Given the description of an element on the screen output the (x, y) to click on. 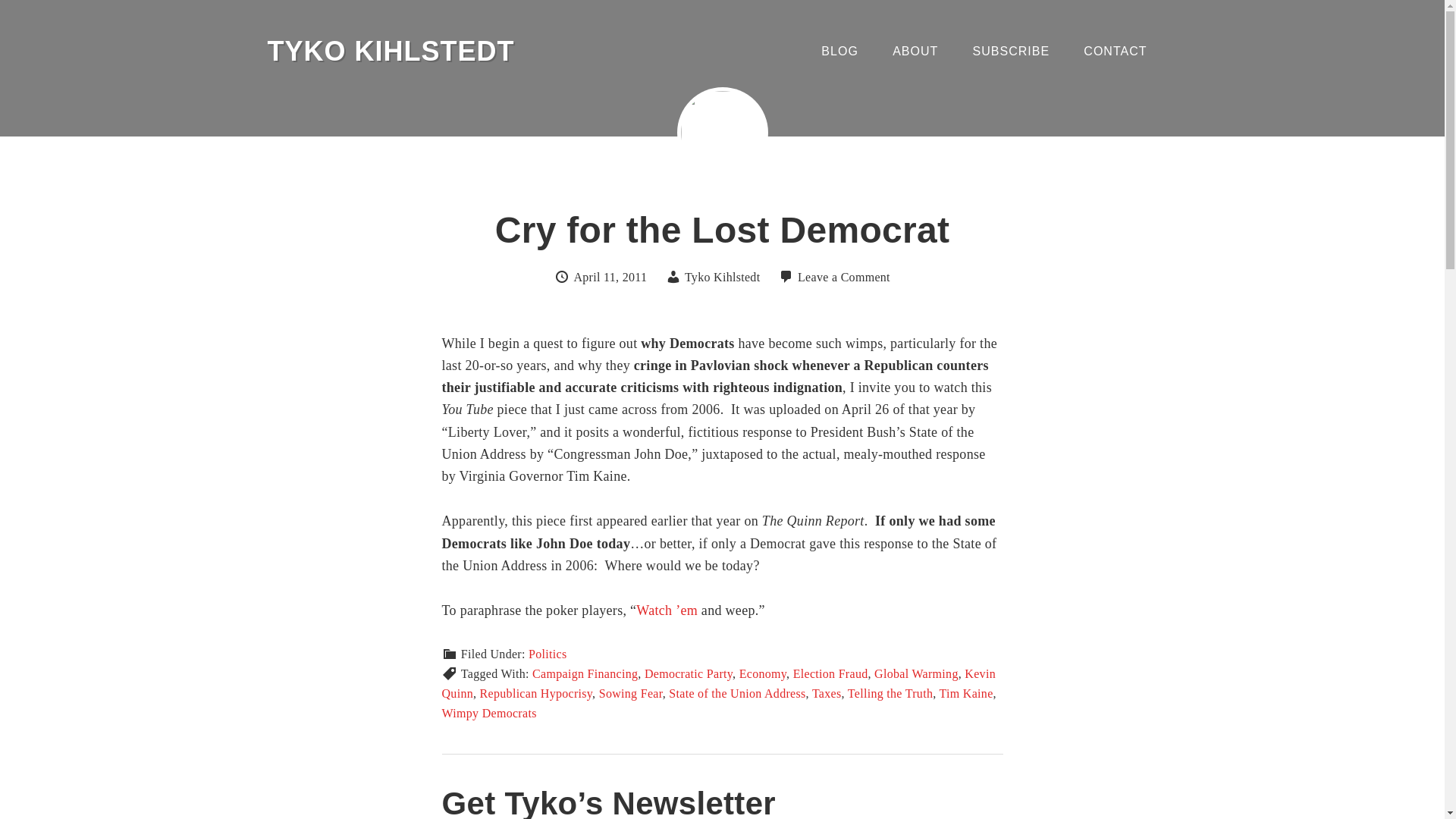
Taxes (826, 693)
Telling the Truth (890, 693)
CONTACT (1115, 51)
Politics (547, 653)
Tim Kaine (965, 693)
Economy (762, 673)
SUBSCRIBE (1010, 51)
Democratic Party (688, 673)
BLOG (839, 51)
ABOUT (914, 51)
